Given the description of an element on the screen output the (x, y) to click on. 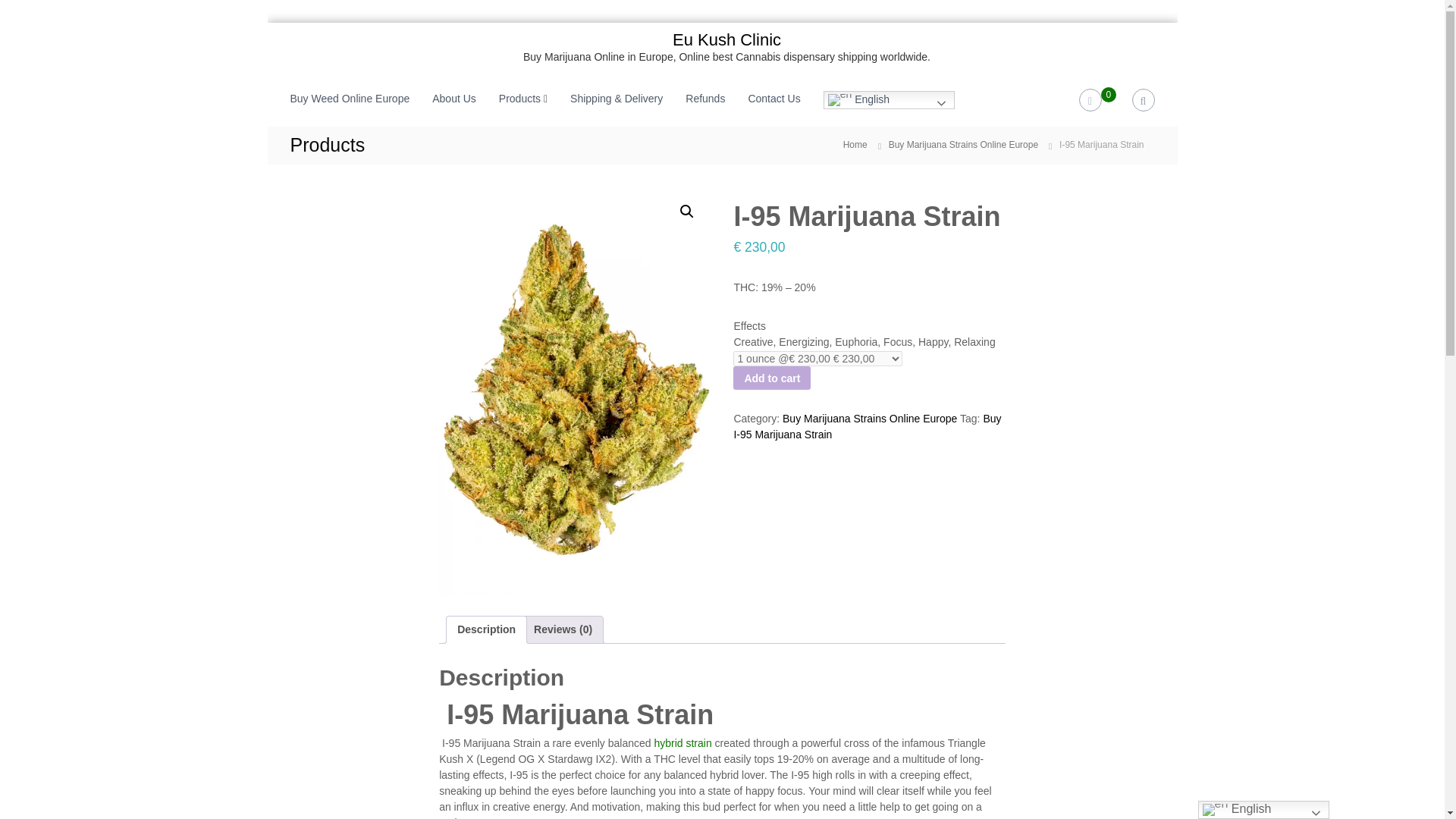
Buy Weed Online Europe (349, 98)
Refunds (705, 98)
Eu Kush Clinic (726, 39)
About Us (454, 98)
Contact Us (773, 98)
Products (519, 98)
